Given the description of an element on the screen output the (x, y) to click on. 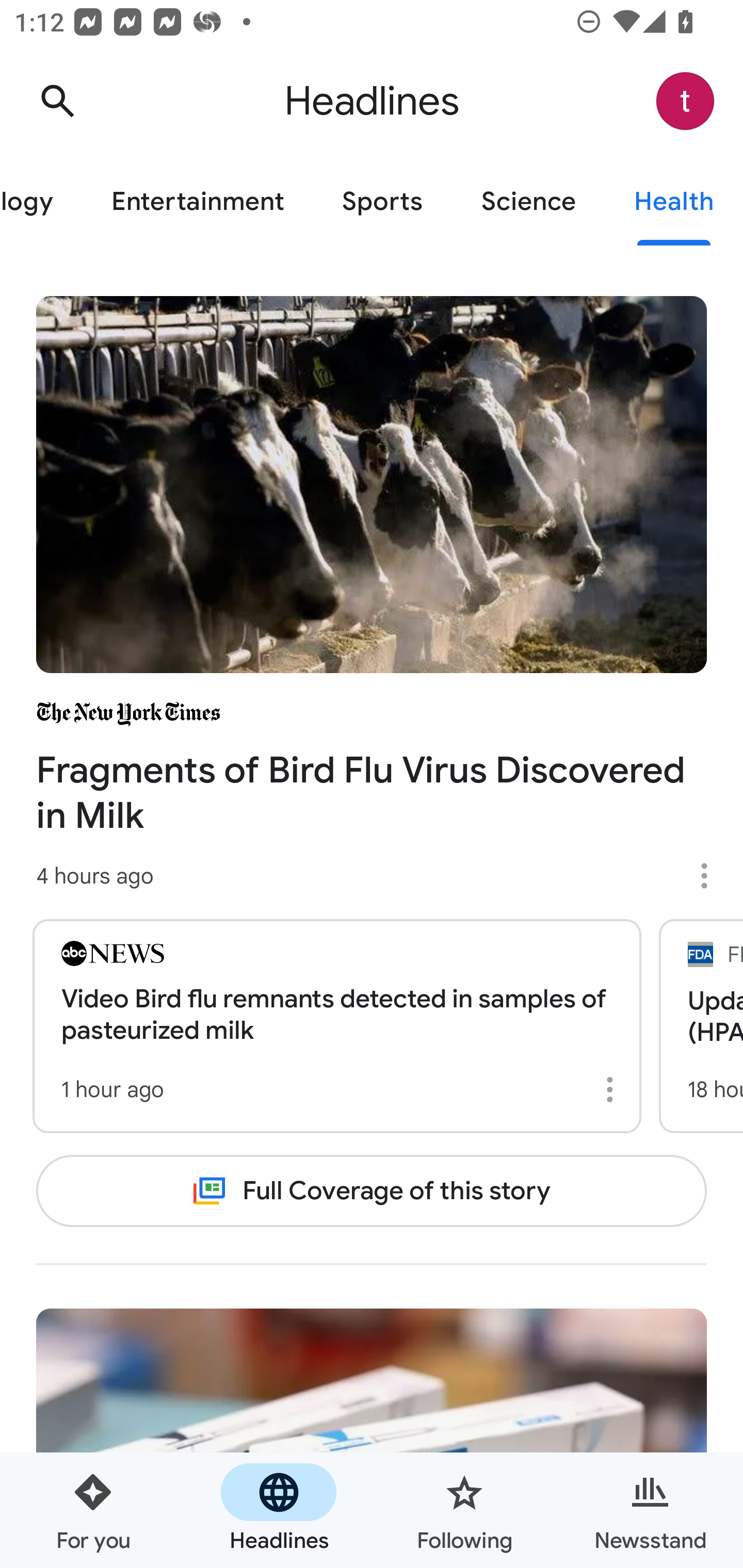
Search (57, 100)
Technology (40, 202)
Entertainment (197, 202)
Sports (382, 202)
Science (527, 202)
More options (711, 875)
More options (613, 1089)
Full Coverage of this story (371, 1191)
For you (92, 1509)
Headlines (278, 1509)
Following (464, 1509)
Newsstand (650, 1509)
